Given the description of an element on the screen output the (x, y) to click on. 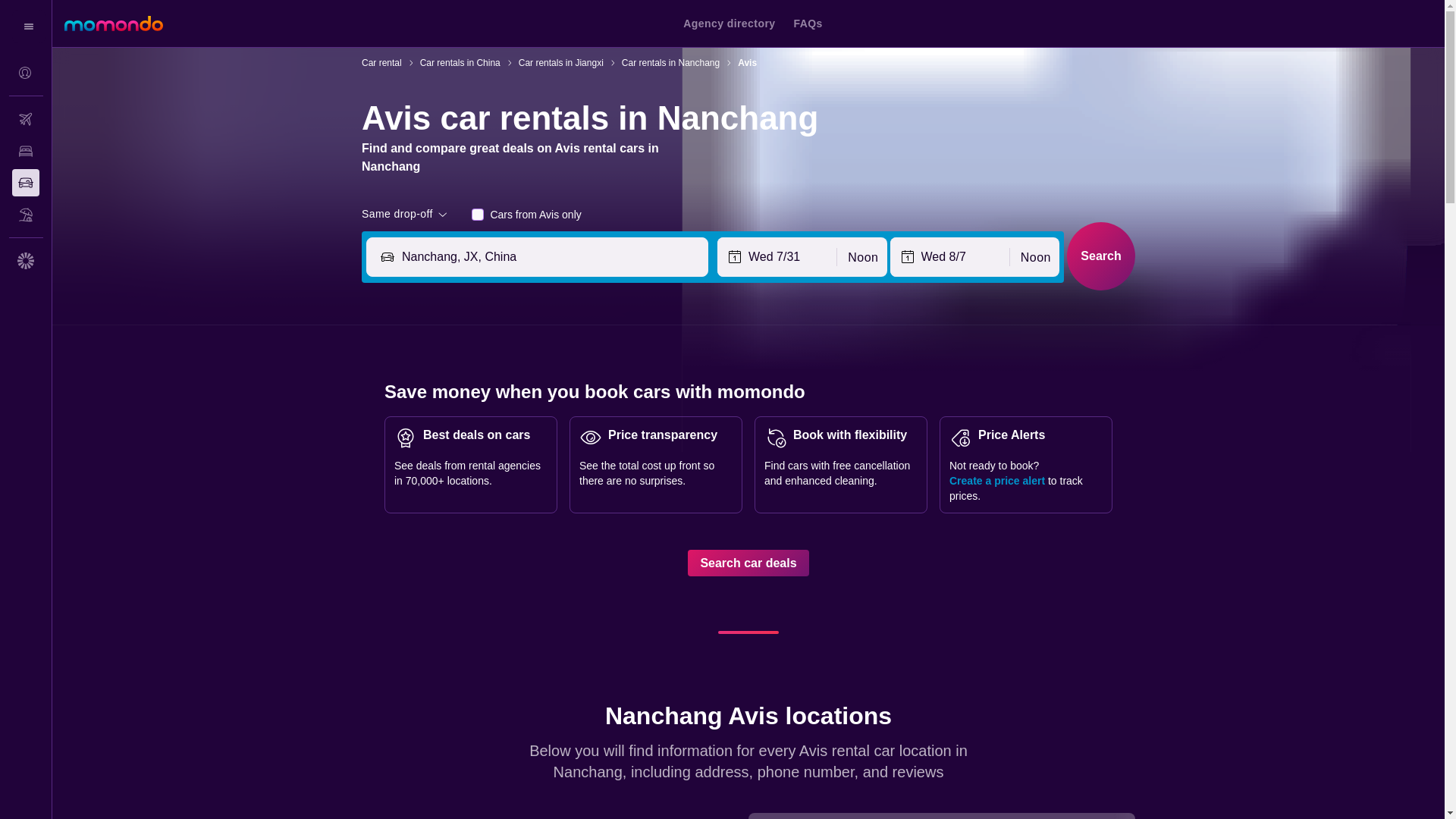
Locations (536, 816)
Car rentals in Nanchang (670, 62)
Create a price alert (997, 480)
Overview (396, 816)
Nanchang, JX, China (550, 256)
Car rentals in Jiangxi (561, 62)
Search car deals (747, 563)
Reviews (465, 816)
Search (1101, 255)
Car rentals in China (460, 62)
Car rental (381, 62)
Nanchang, JX, China (550, 256)
Search (1101, 255)
